Given the description of an element on the screen output the (x, y) to click on. 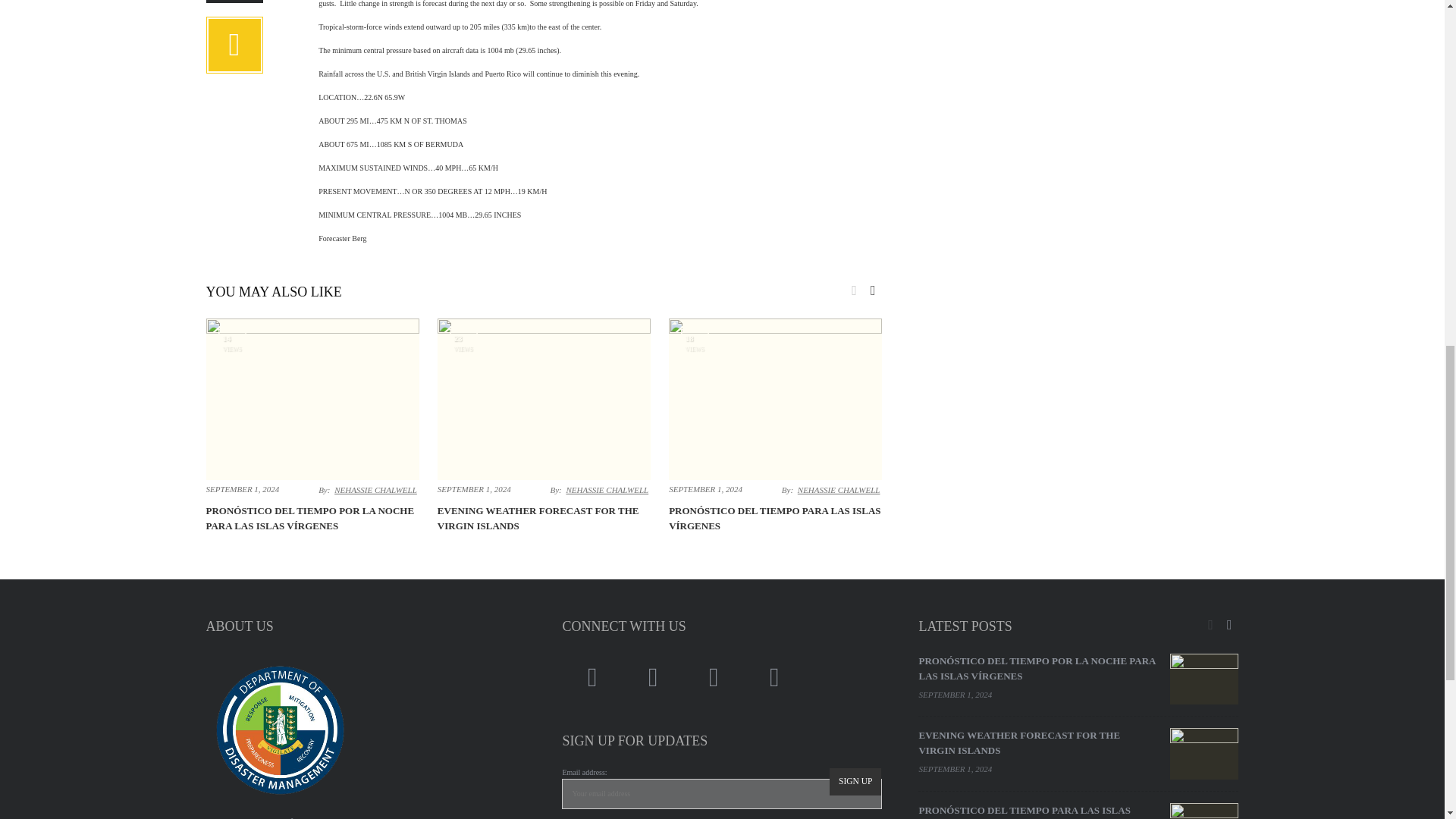
Sign up (854, 781)
facebook (592, 677)
Evening Weather Forecast for the Virgin Islands (538, 518)
